Given the description of an element on the screen output the (x, y) to click on. 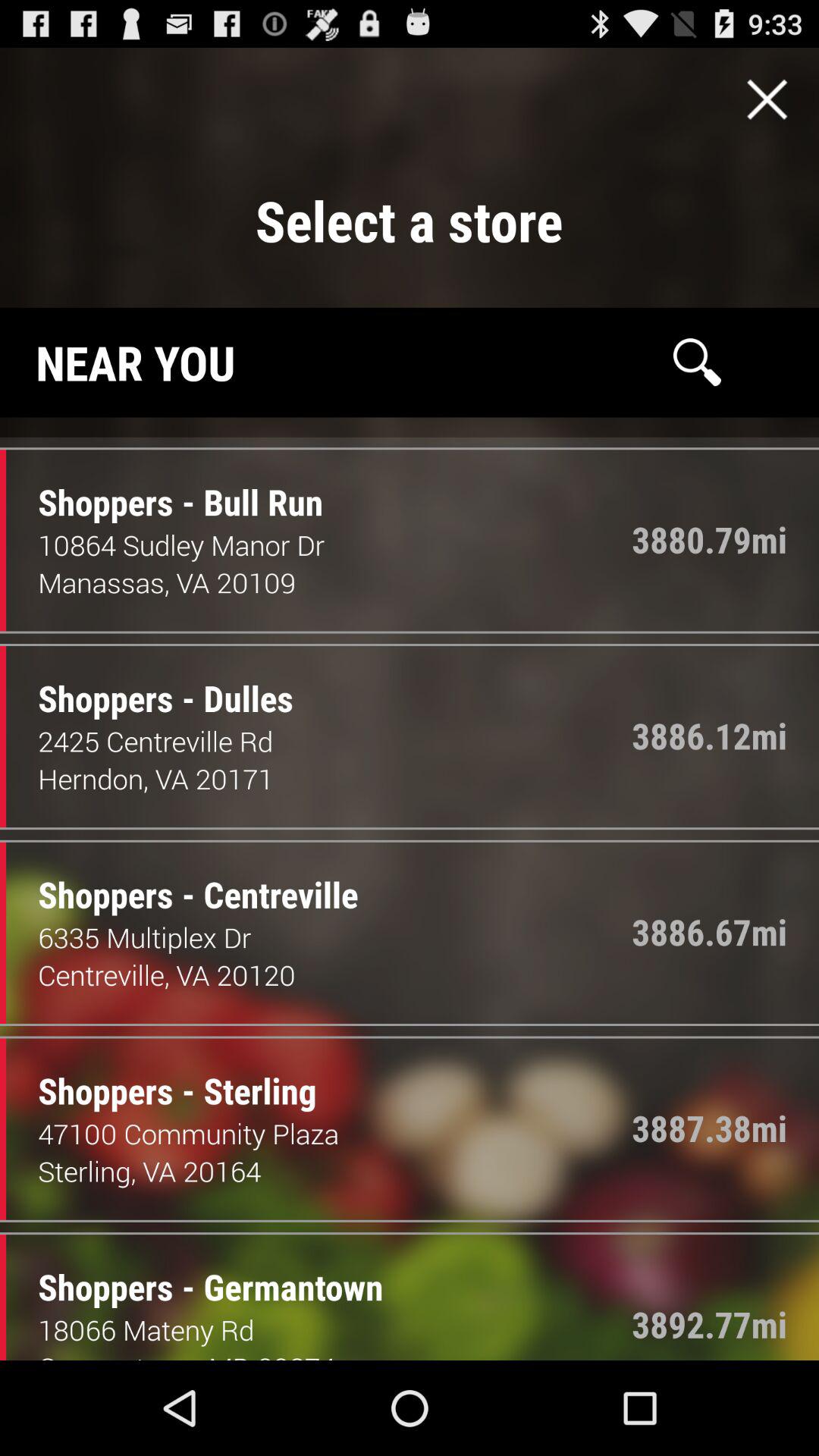
select item next to the 3886.12mi item (154, 682)
